Given the description of an element on the screen output the (x, y) to click on. 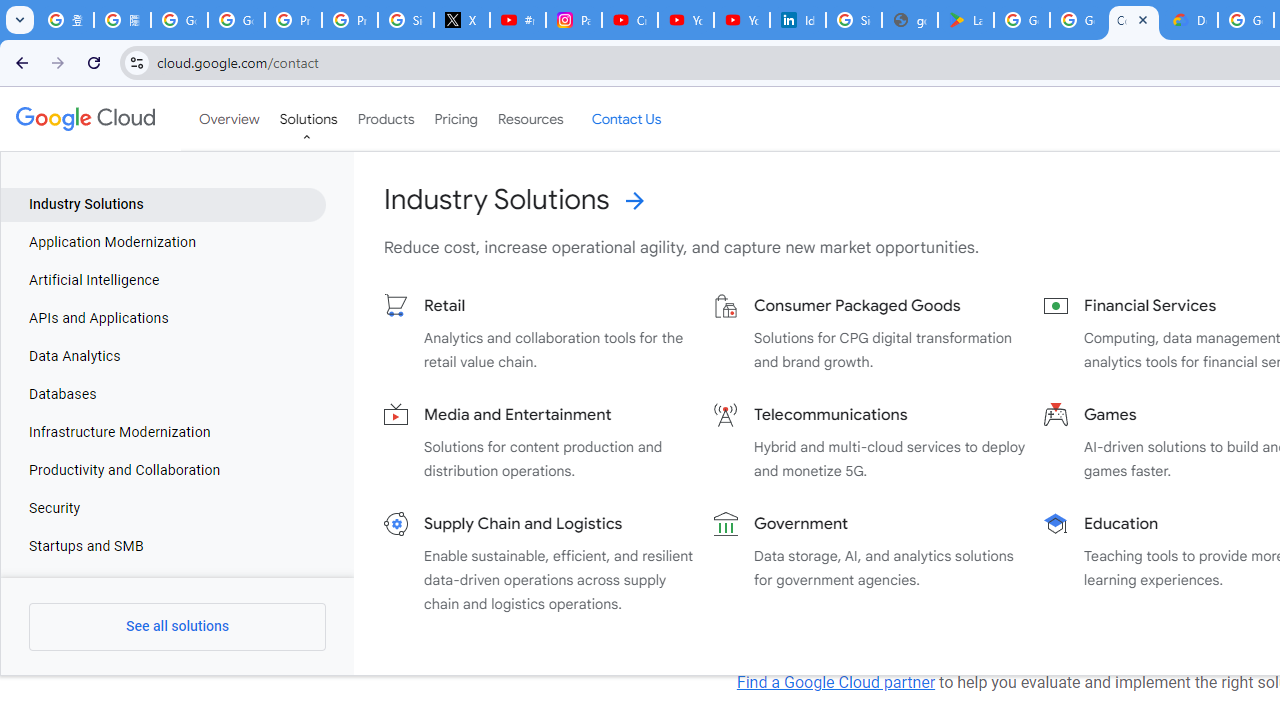
YouTube Culture & Trends - YouTube Top 10, 2021 (742, 20)
Privacy Help Center - Policies Help (349, 20)
Application Modernization (163, 242)
Find a Google Cloud partner (835, 682)
